Given the description of an element on the screen output the (x, y) to click on. 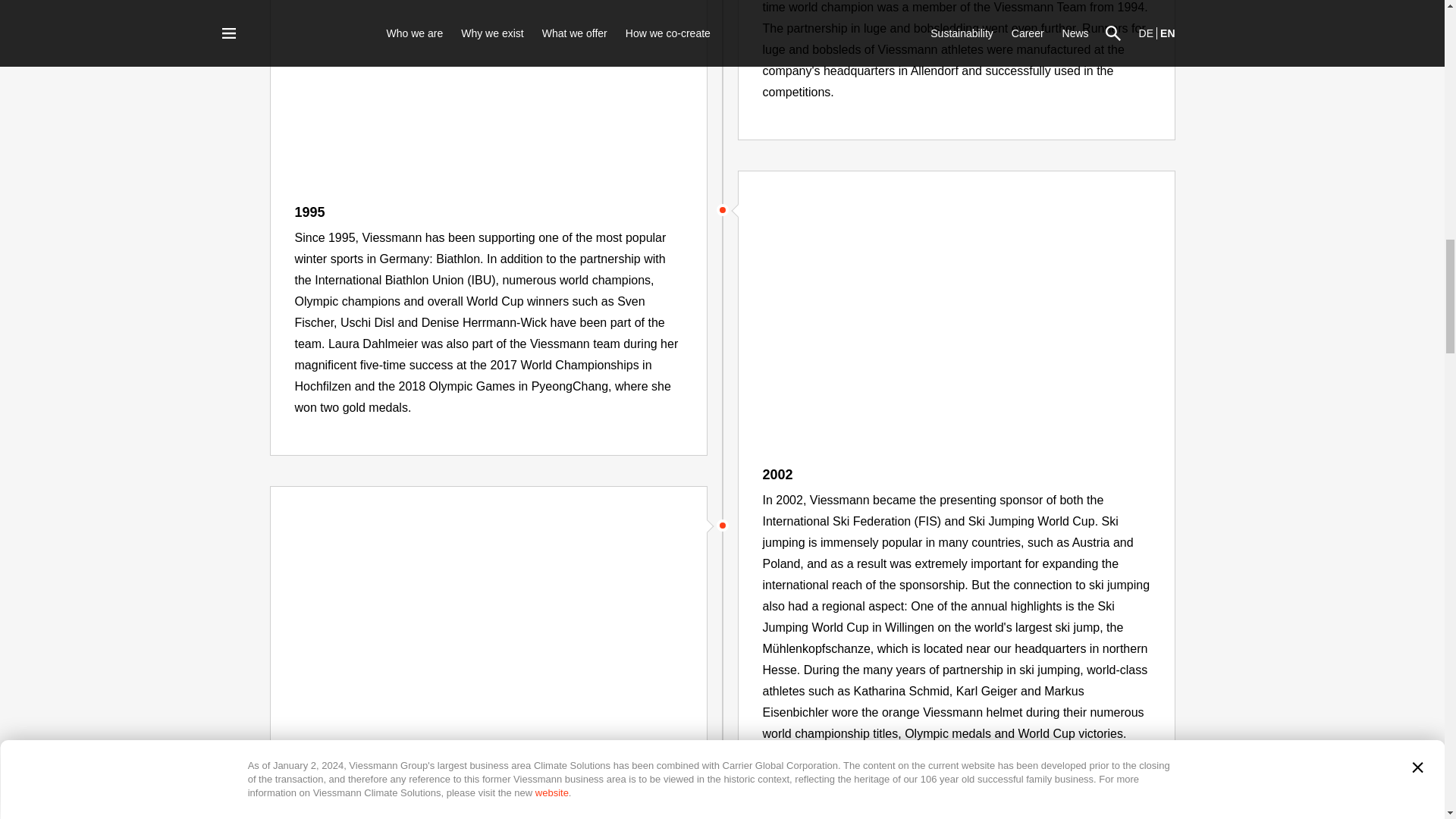
Biathlon Sponsoring (487, 89)
Eric Frenzel in Siegerpose (487, 627)
Skisprung Weltcup (956, 312)
